Given the description of an element on the screen output the (x, y) to click on. 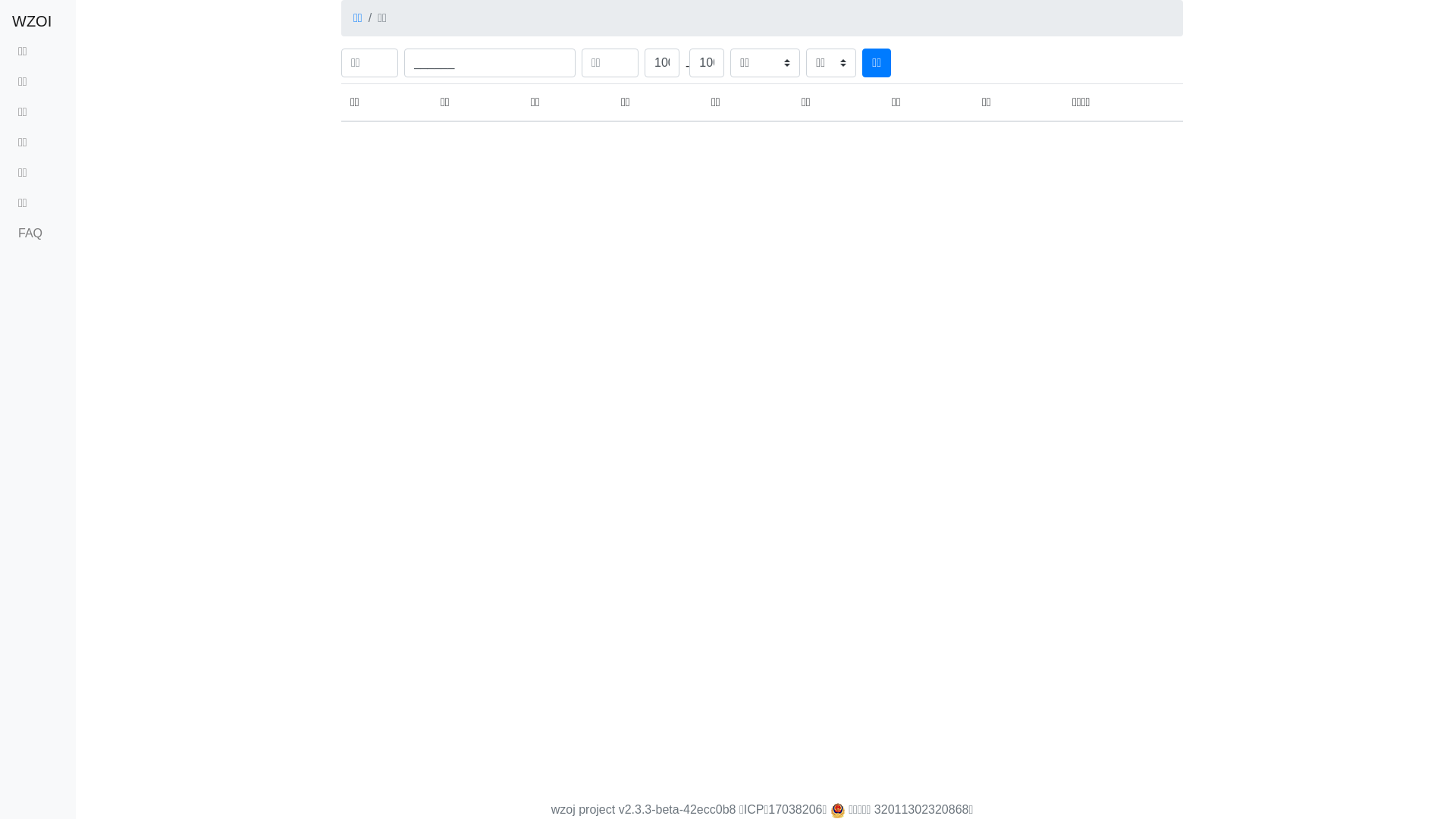
v2.3.3-beta-42ecc0b8 Element type: text (677, 809)
FAQ Element type: text (37, 233)
WZOI Element type: text (31, 21)
wzoj project Element type: text (583, 809)
